Given the description of an element on the screen output the (x, y) to click on. 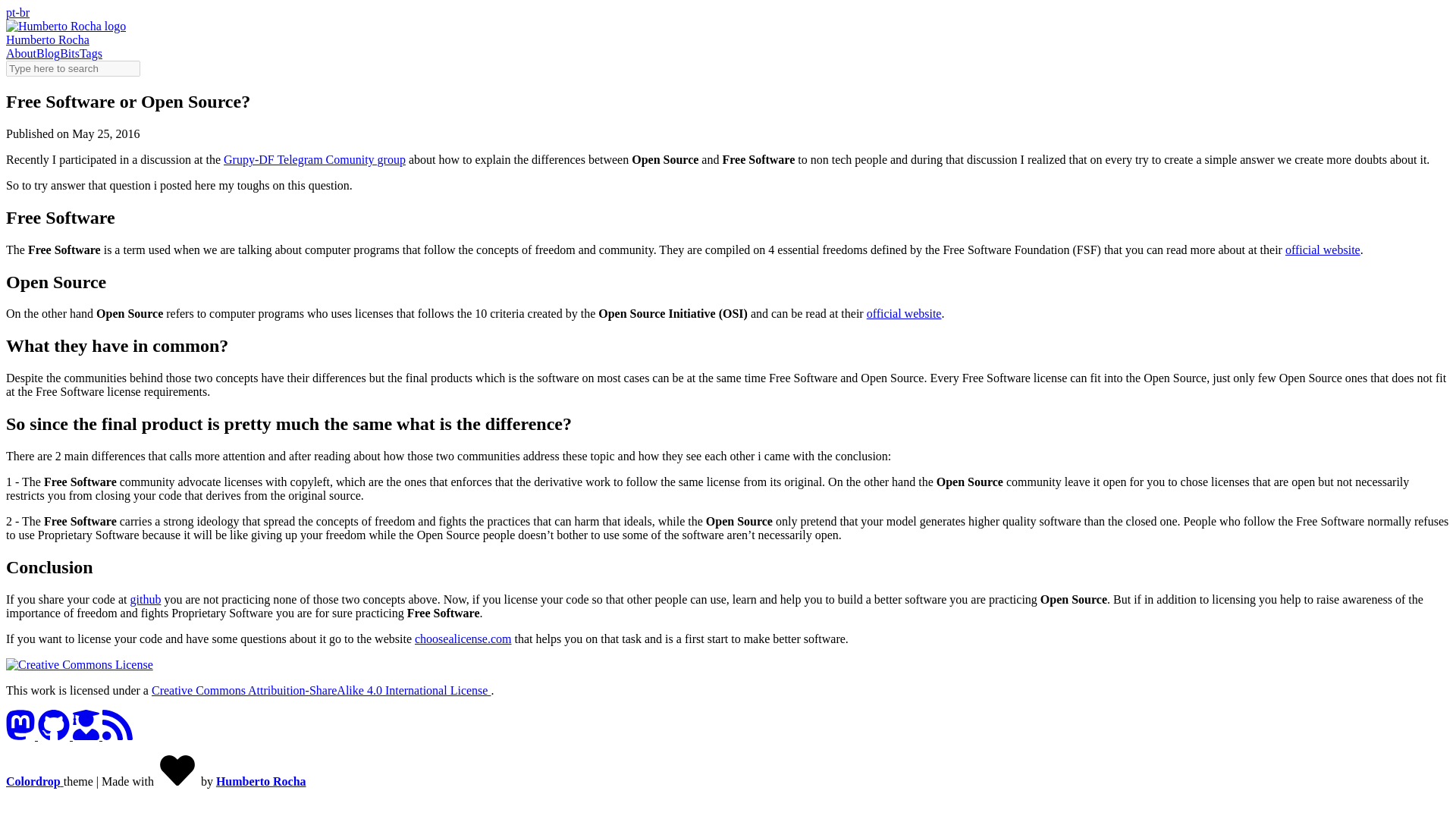
choosealicense.com (463, 638)
pt-br (17, 11)
About (20, 52)
Grupy-DF Telegram Comunity group (315, 159)
Bits (69, 52)
Tags (90, 52)
github (146, 599)
official website (1322, 249)
Blog (47, 52)
